Given the description of an element on the screen output the (x, y) to click on. 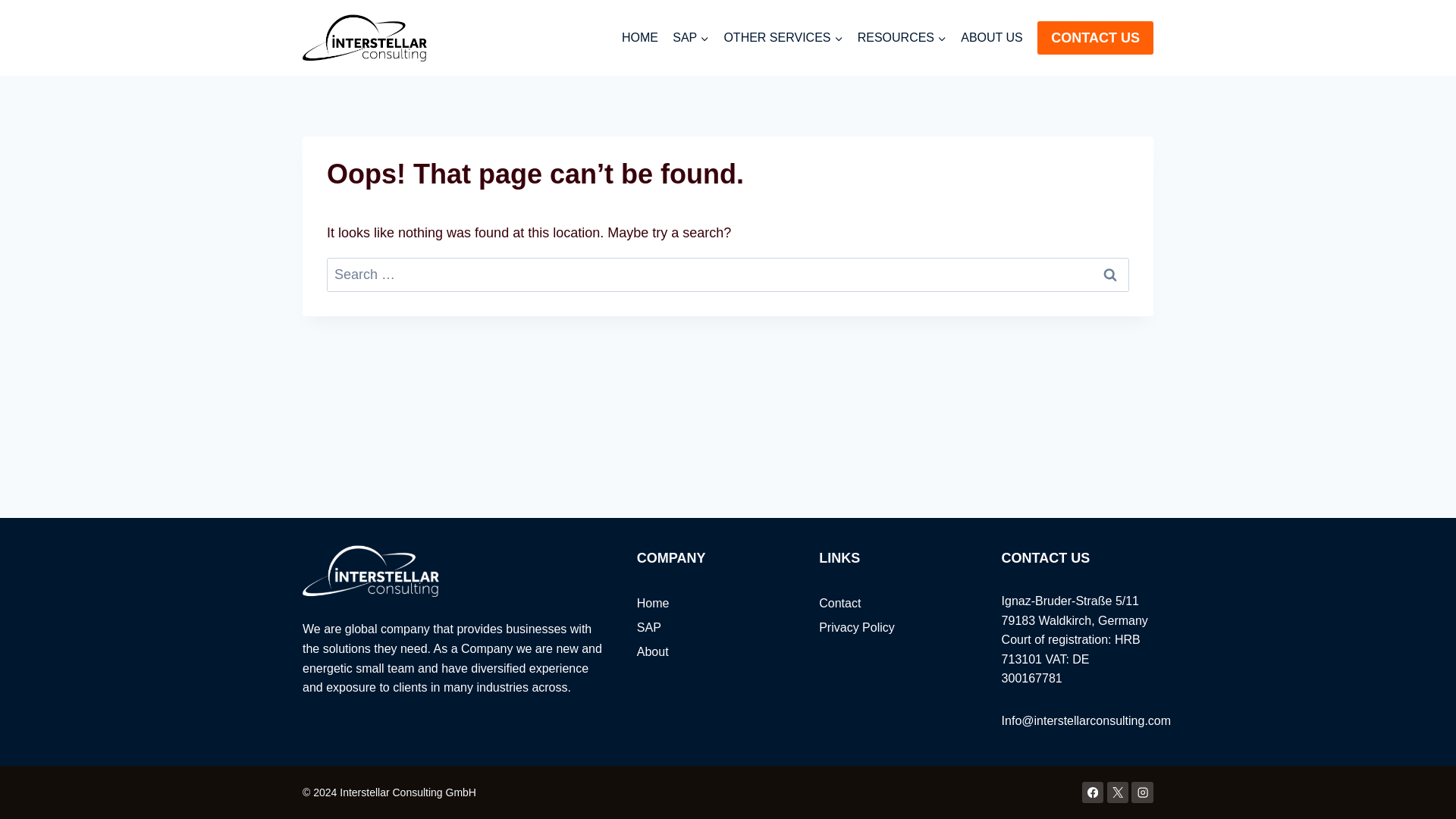
Search (1109, 274)
ABOUT US (991, 37)
CONTACT US (1094, 37)
SAP (690, 37)
Search (1109, 274)
Home (713, 603)
HOME (639, 37)
RESOURCES (901, 37)
Contact (894, 603)
Search (1109, 274)
